Given the description of an element on the screen output the (x, y) to click on. 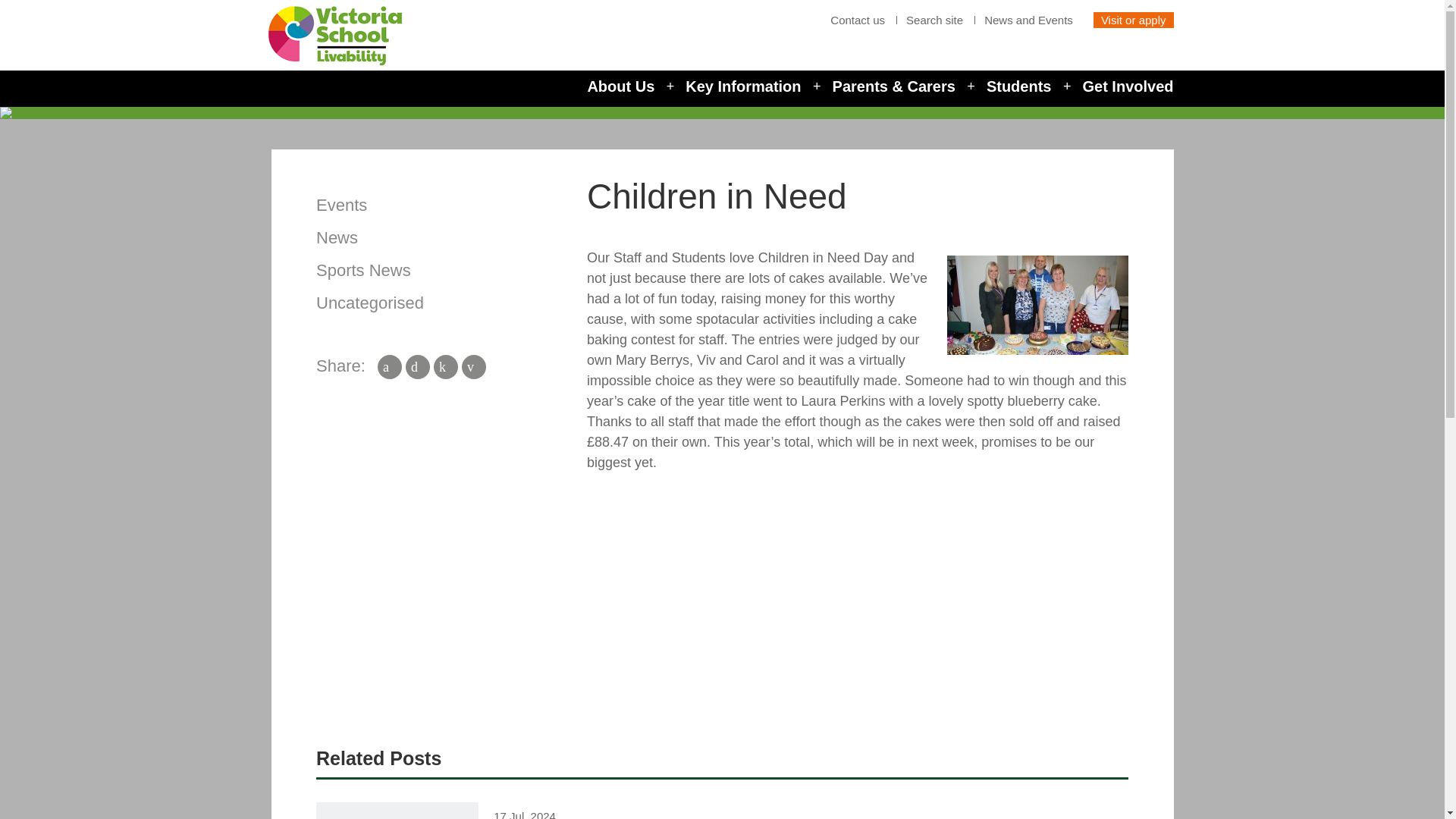
Contact us (857, 19)
Visit or apply (1133, 19)
News (336, 237)
News and Events (1028, 19)
Students (1019, 86)
About Us (619, 86)
Search site (933, 19)
Uncategorised (369, 302)
Get Involved (1127, 86)
Sports News (362, 270)
Events (340, 204)
Key Information (742, 86)
